Given the description of an element on the screen output the (x, y) to click on. 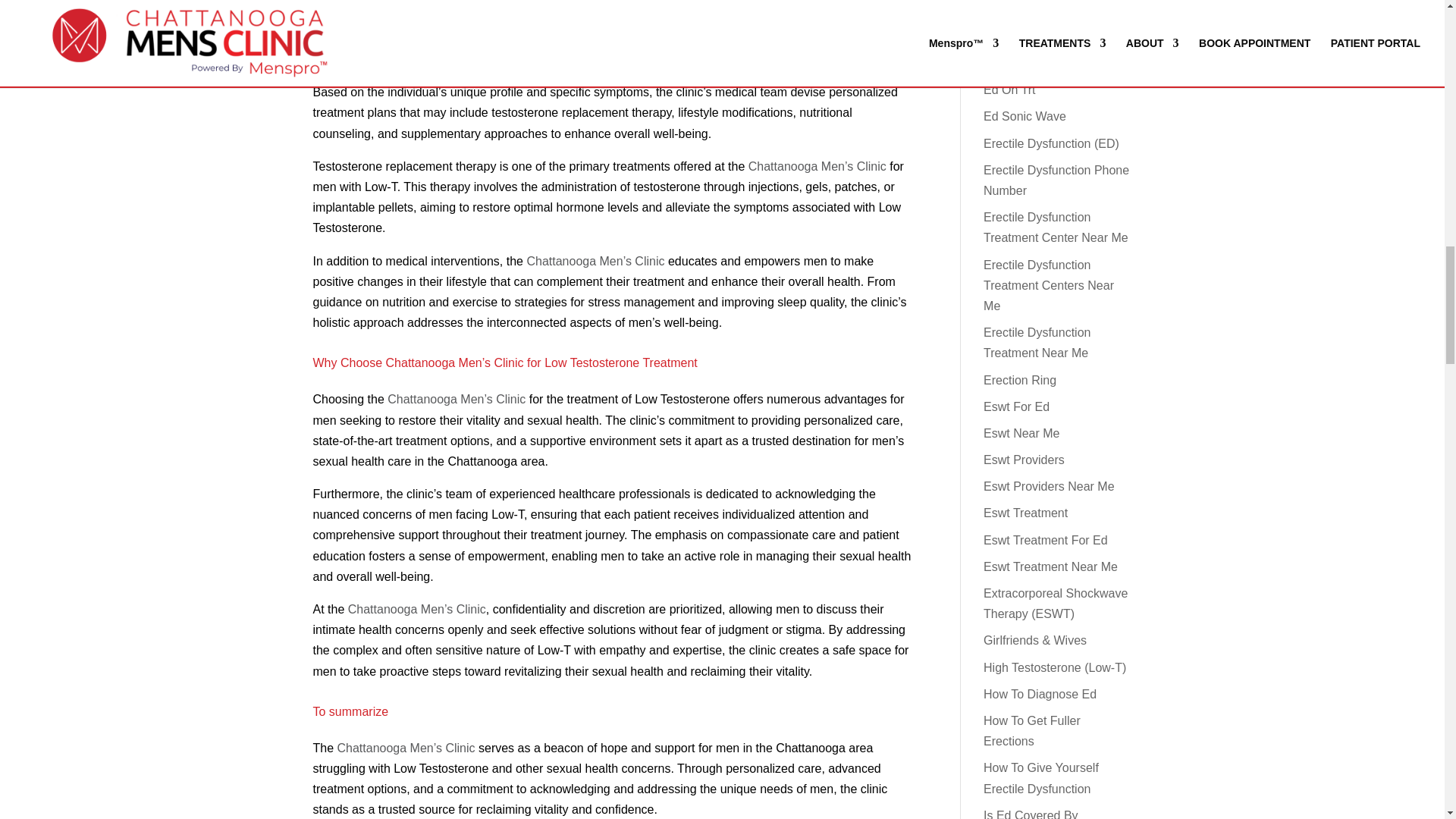
Home Page (406, 18)
Home Page (406, 748)
Home Page (817, 165)
Home Page (456, 399)
Home Page (416, 608)
Home Page (594, 260)
